Given the description of an element on the screen output the (x, y) to click on. 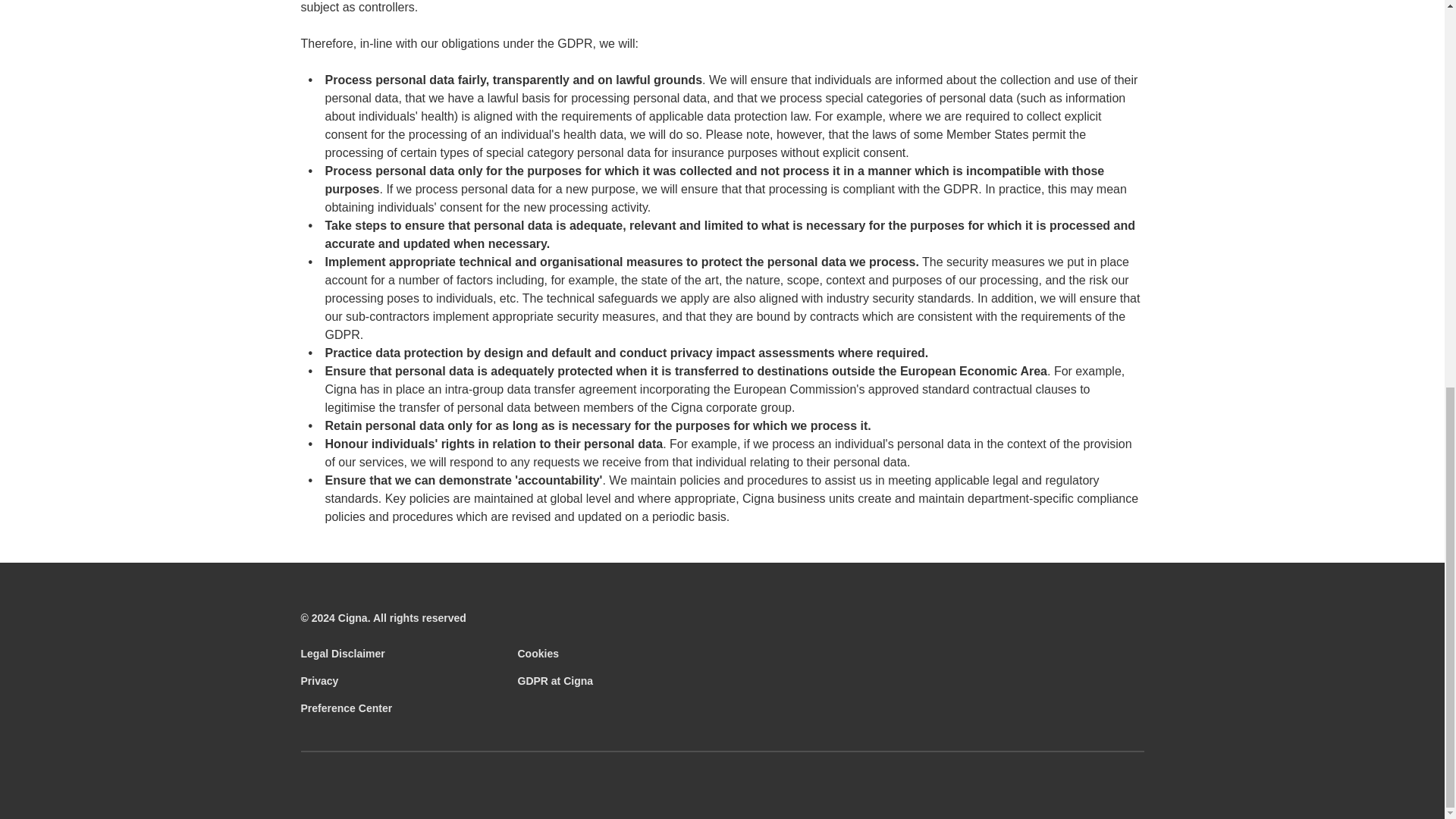
GDPR at Cigna (554, 682)
Legal Disclaimer (341, 654)
Cookies (536, 654)
Preference Center (345, 709)
Privacy (318, 682)
